Given the description of an element on the screen output the (x, y) to click on. 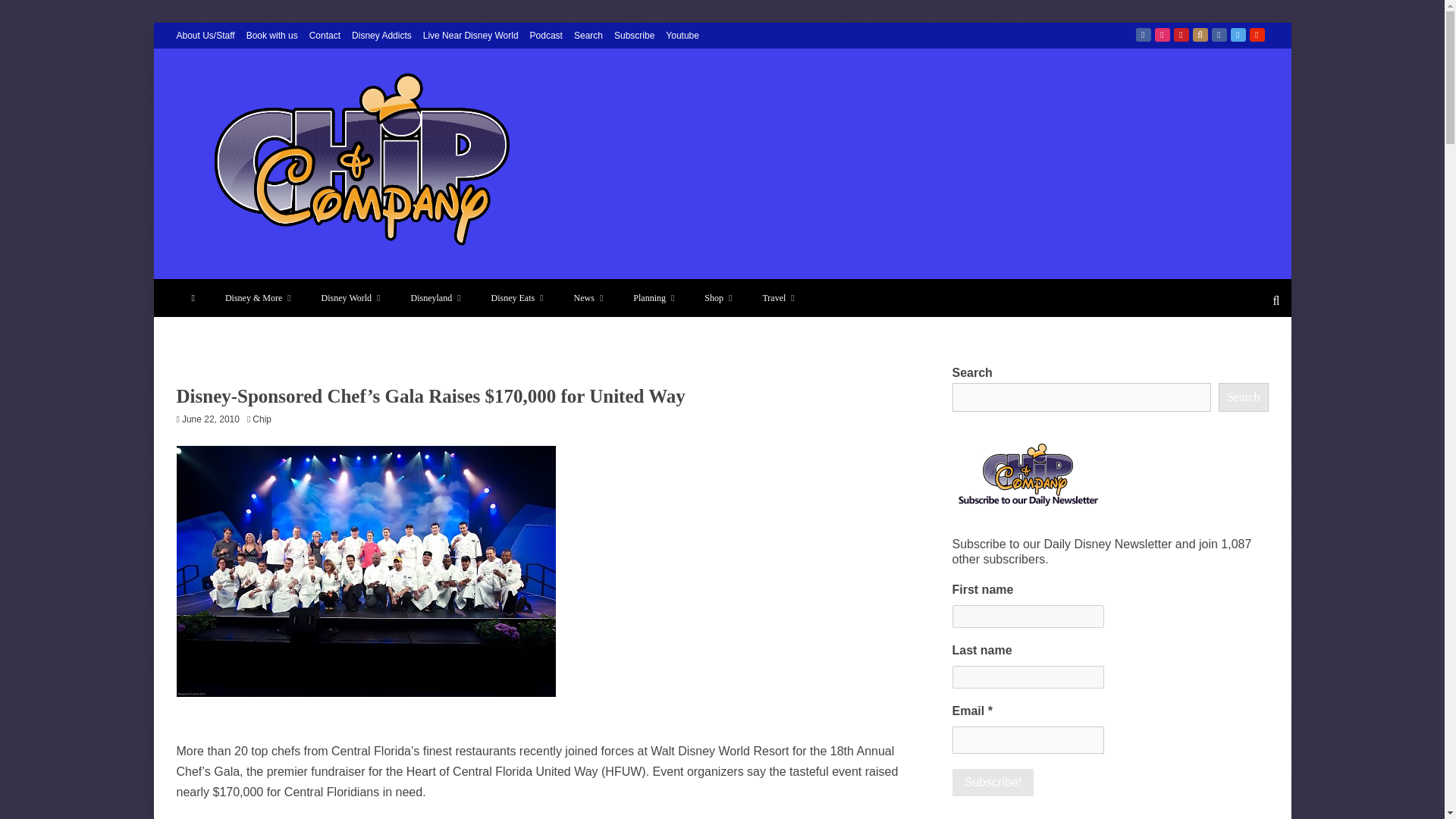
Disney World (350, 297)
Live Near Disney World (470, 35)
Podcast (545, 35)
Pinterest (1181, 34)
First name (1027, 616)
Contact (324, 35)
Youtube (681, 35)
Facebook (1143, 34)
Youtube (1257, 34)
Twitter (1237, 34)
Podcasts (1199, 34)
Book with us (272, 35)
CHIP AND COMPANY (339, 277)
Instagram (1161, 34)
